Given the description of an element on the screen output the (x, y) to click on. 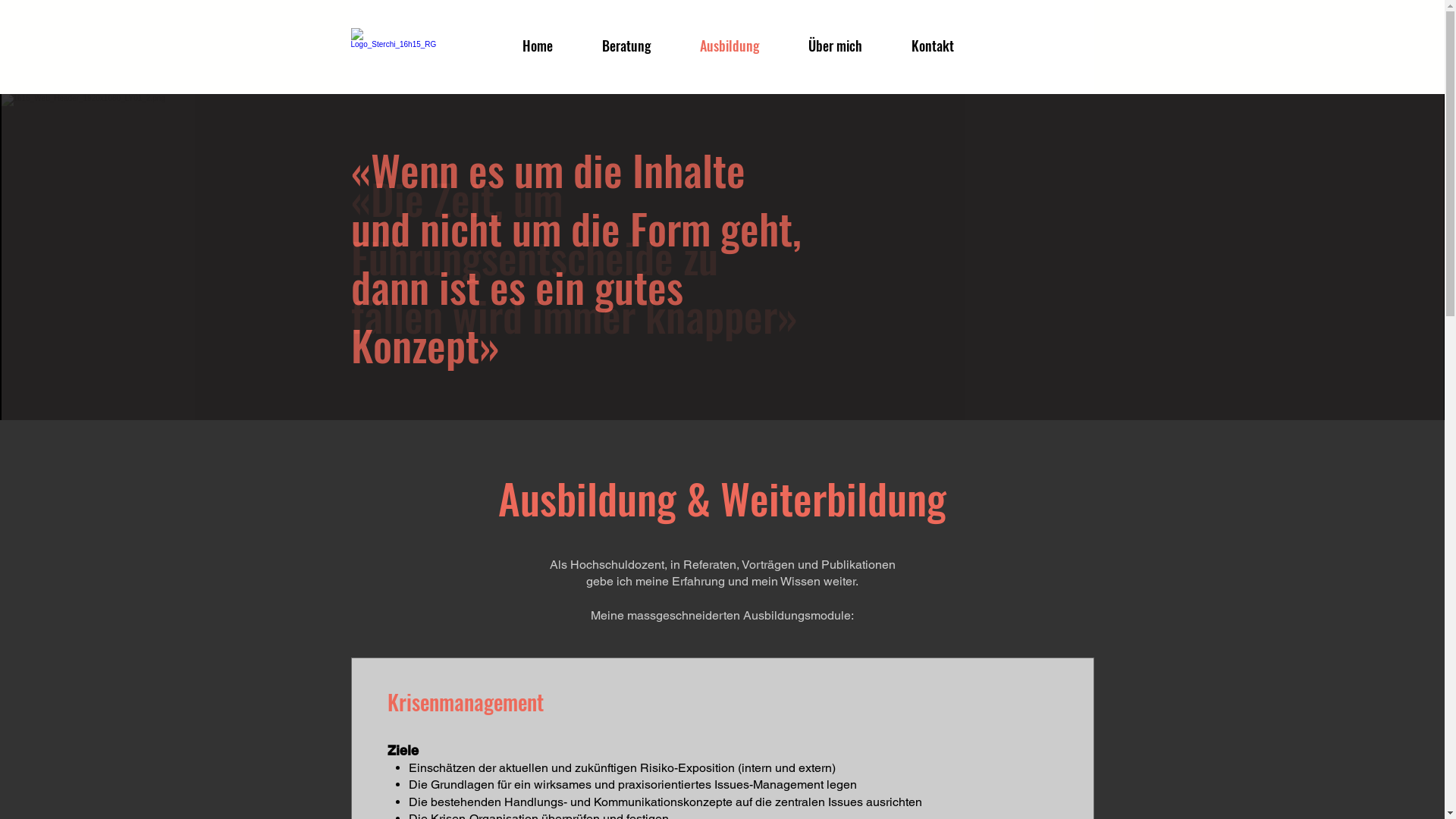
Ausbildung Element type: text (742, 45)
Home Element type: text (550, 45)
Kontakt Element type: text (945, 45)
Beratung Element type: text (638, 45)
Logo_Sterchi_16h15_RGB_black_edited.png Element type: hover (393, 46)
